Given the description of an element on the screen output the (x, y) to click on. 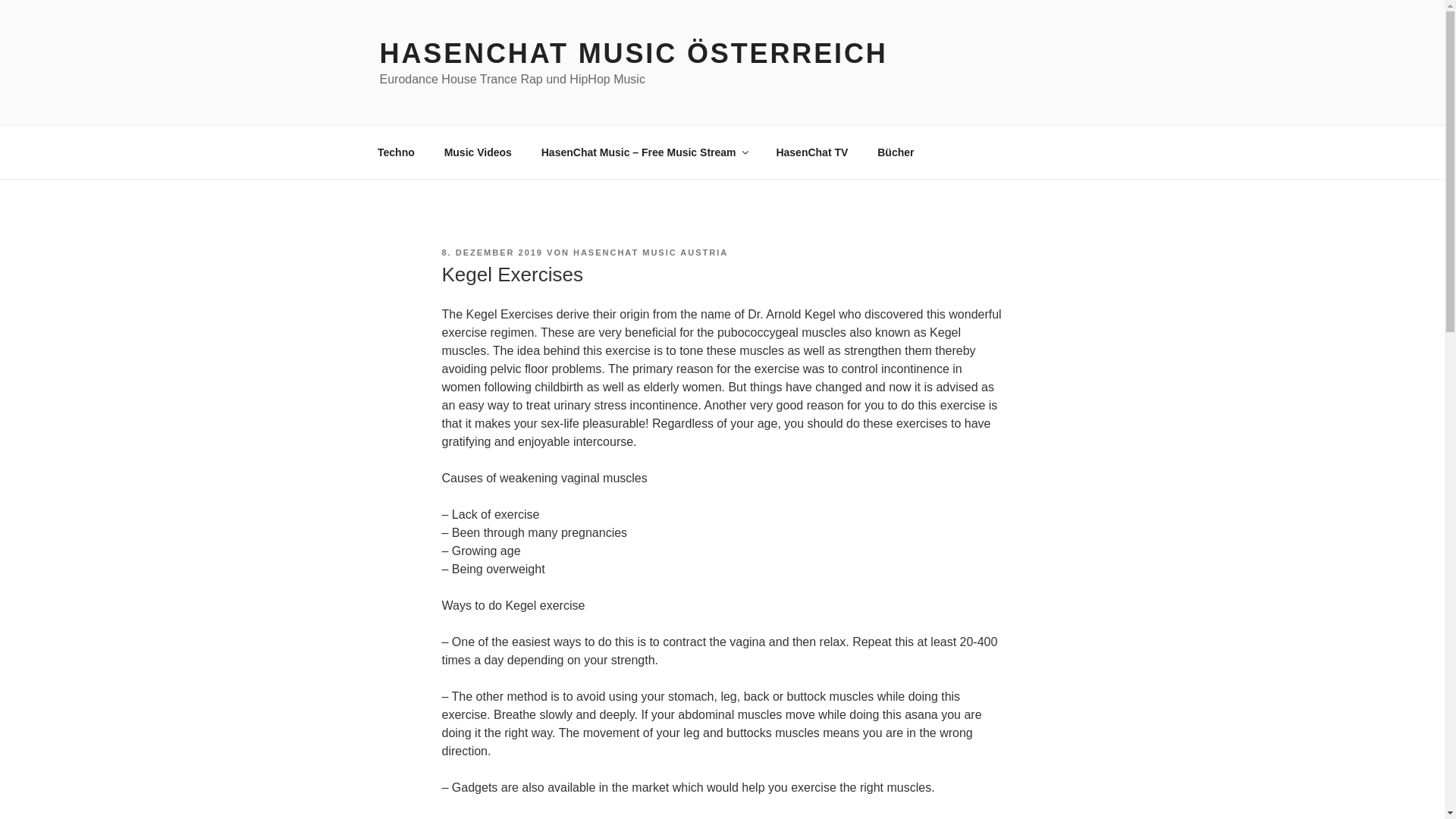
Music Videos (477, 151)
HASENCHAT MUSIC AUSTRIA (650, 252)
HasenChat TV (811, 151)
8. DEZEMBER 2019 (491, 252)
Techno (396, 151)
